Given the description of an element on the screen output the (x, y) to click on. 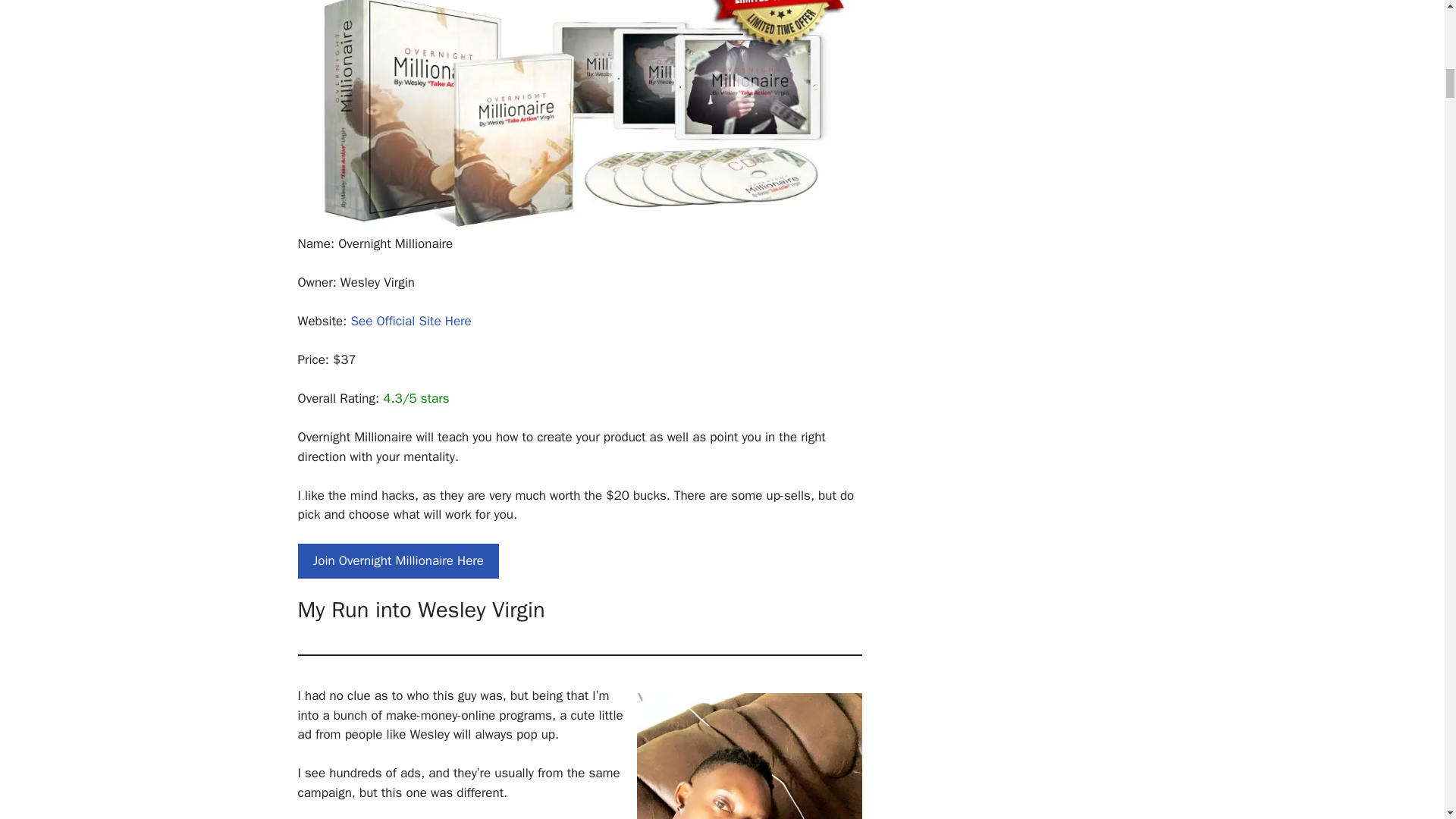
See Official Site Here (410, 320)
Join Overnight Millionaire Here (397, 560)
